Given the description of an element on the screen output the (x, y) to click on. 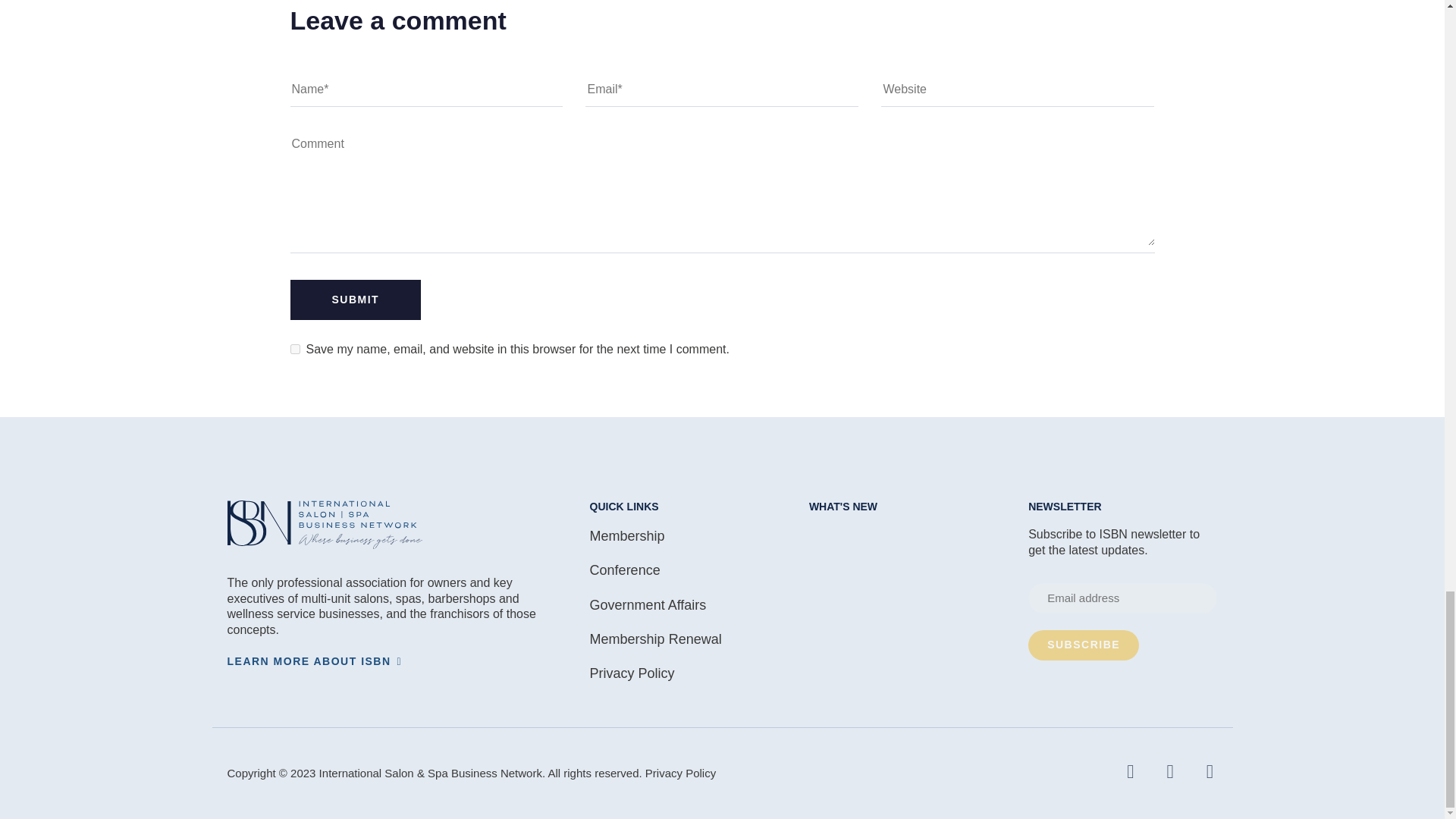
Submit (354, 300)
yes (294, 348)
Submit (354, 300)
Subscribe (1082, 644)
